Given the description of an element on the screen output the (x, y) to click on. 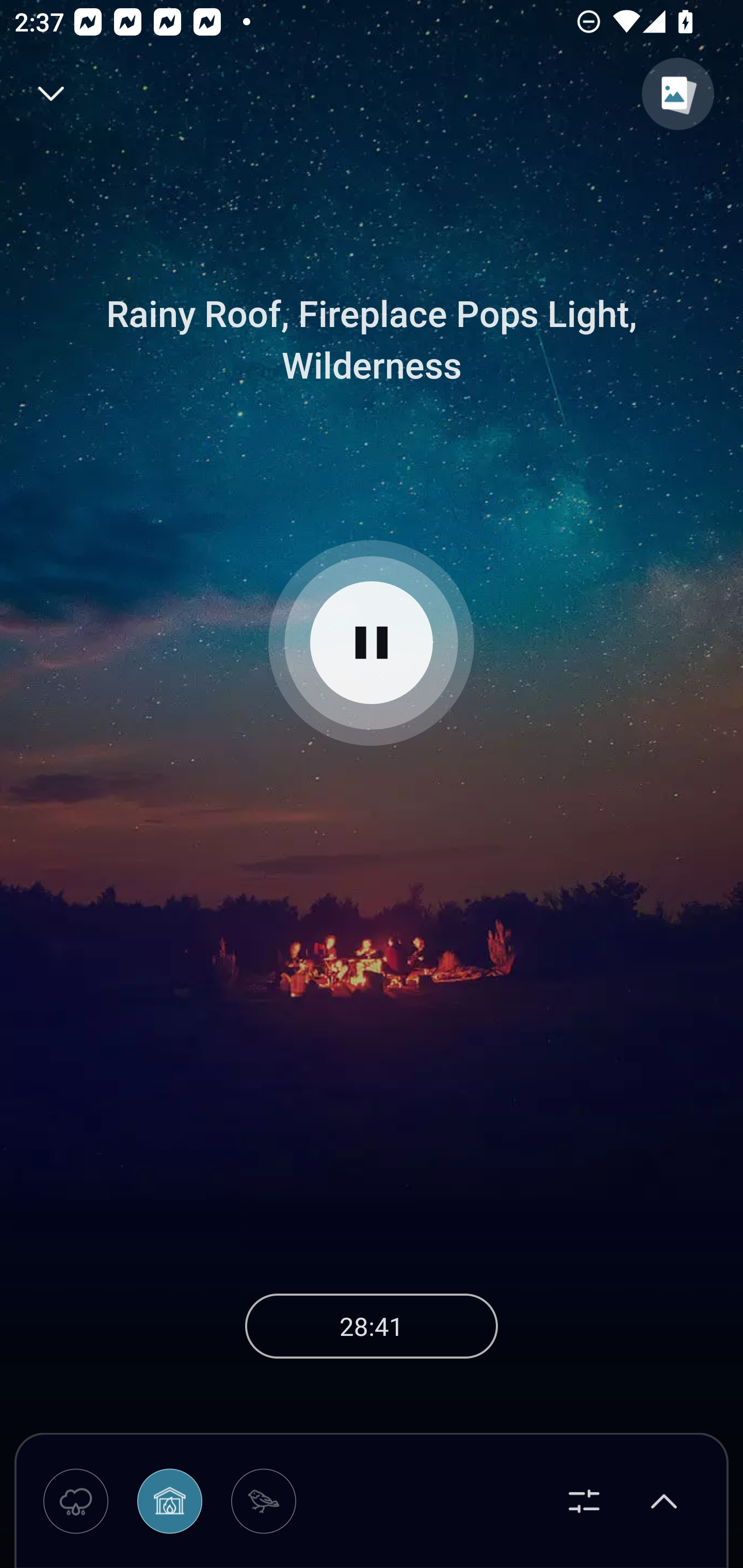
28:41 (371, 1325)
